Given the description of an element on the screen output the (x, y) to click on. 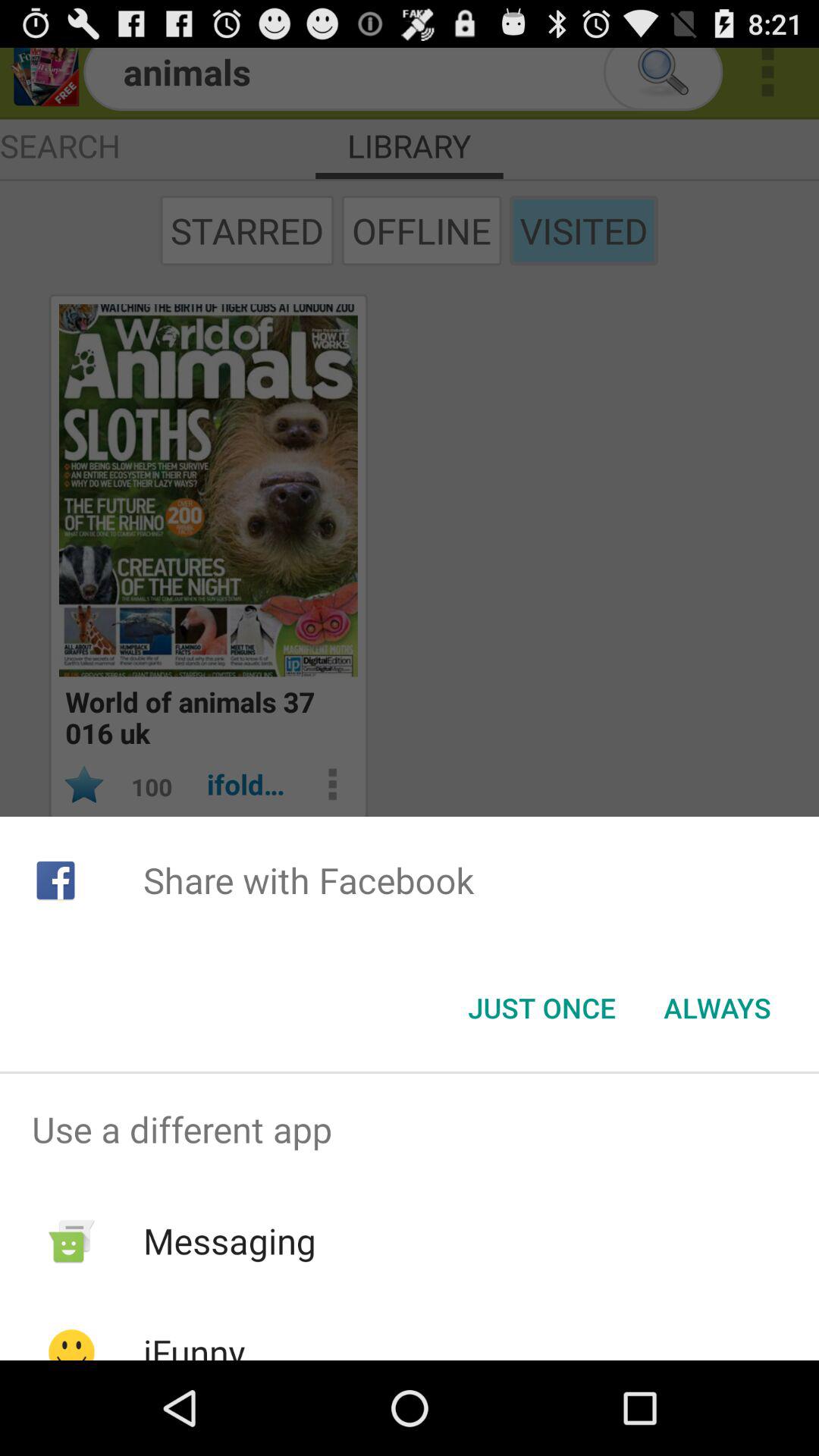
jump to messaging app (229, 1240)
